Given the description of an element on the screen output the (x, y) to click on. 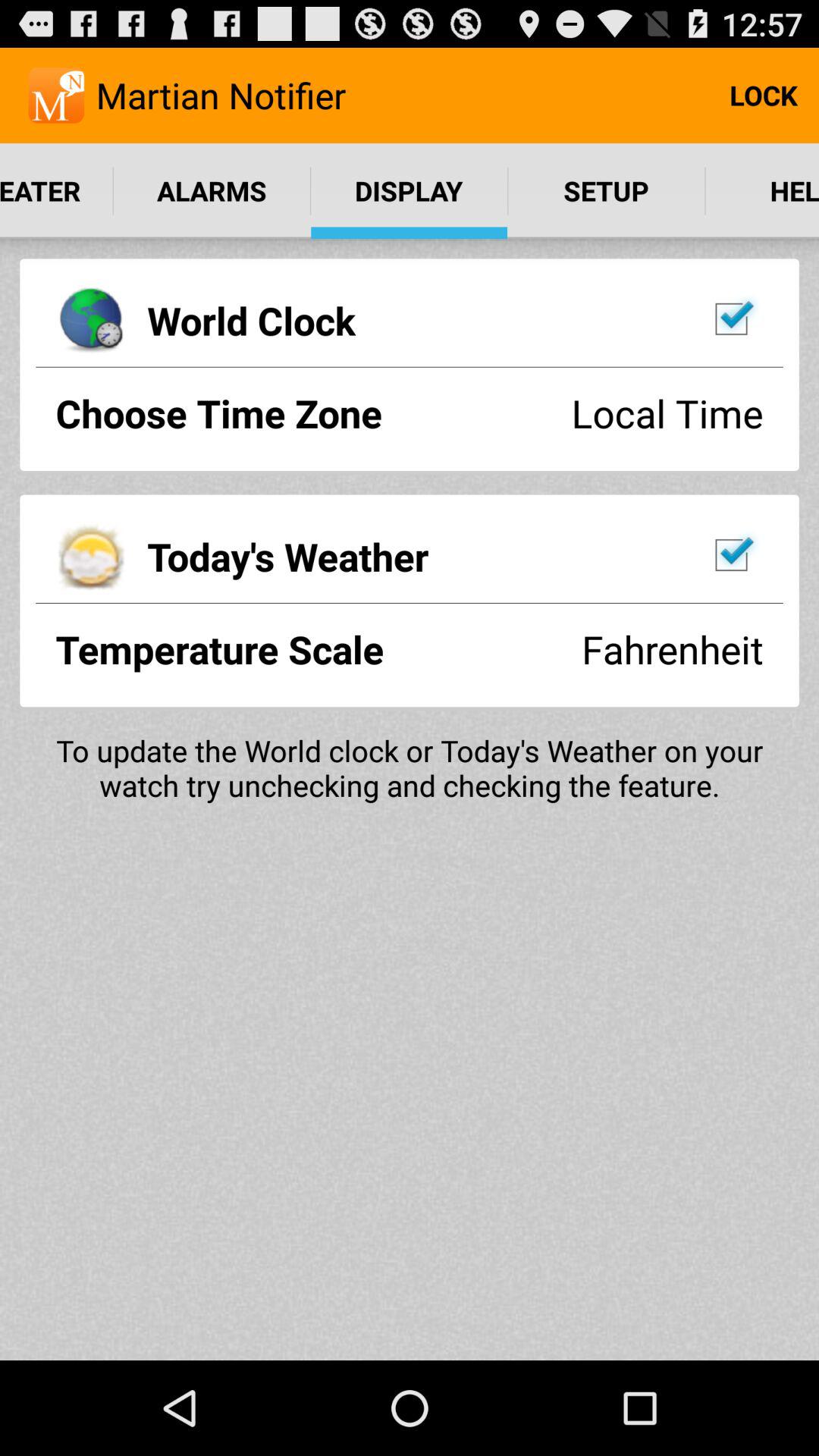
click lock (763, 95)
